Given the description of an element on the screen output the (x, y) to click on. 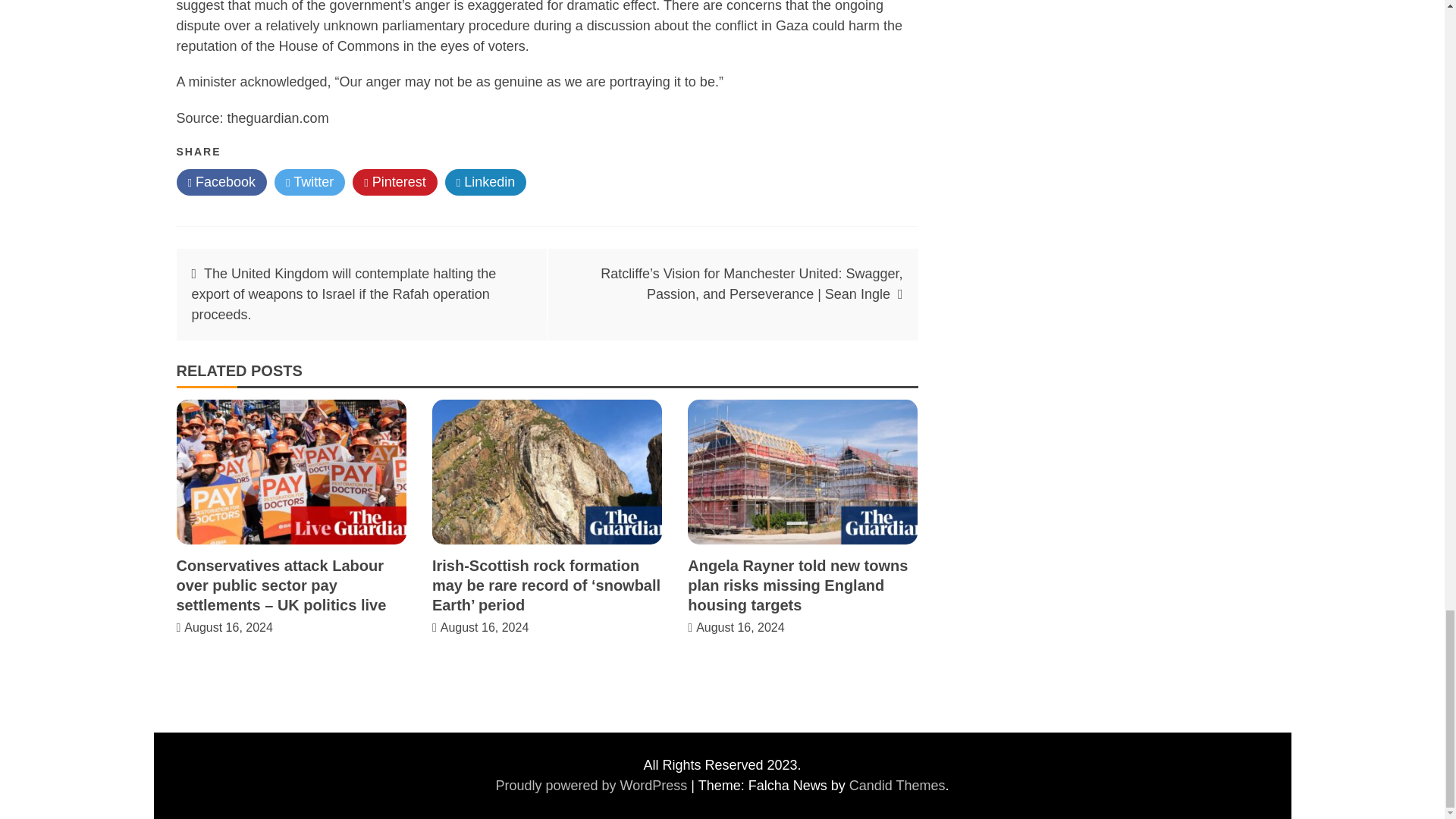
Linkedin (486, 181)
August 16, 2024 (485, 626)
Twitter (310, 181)
Facebook (221, 181)
August 16, 2024 (739, 626)
Pinterest (395, 181)
August 16, 2024 (228, 626)
